Given the description of an element on the screen output the (x, y) to click on. 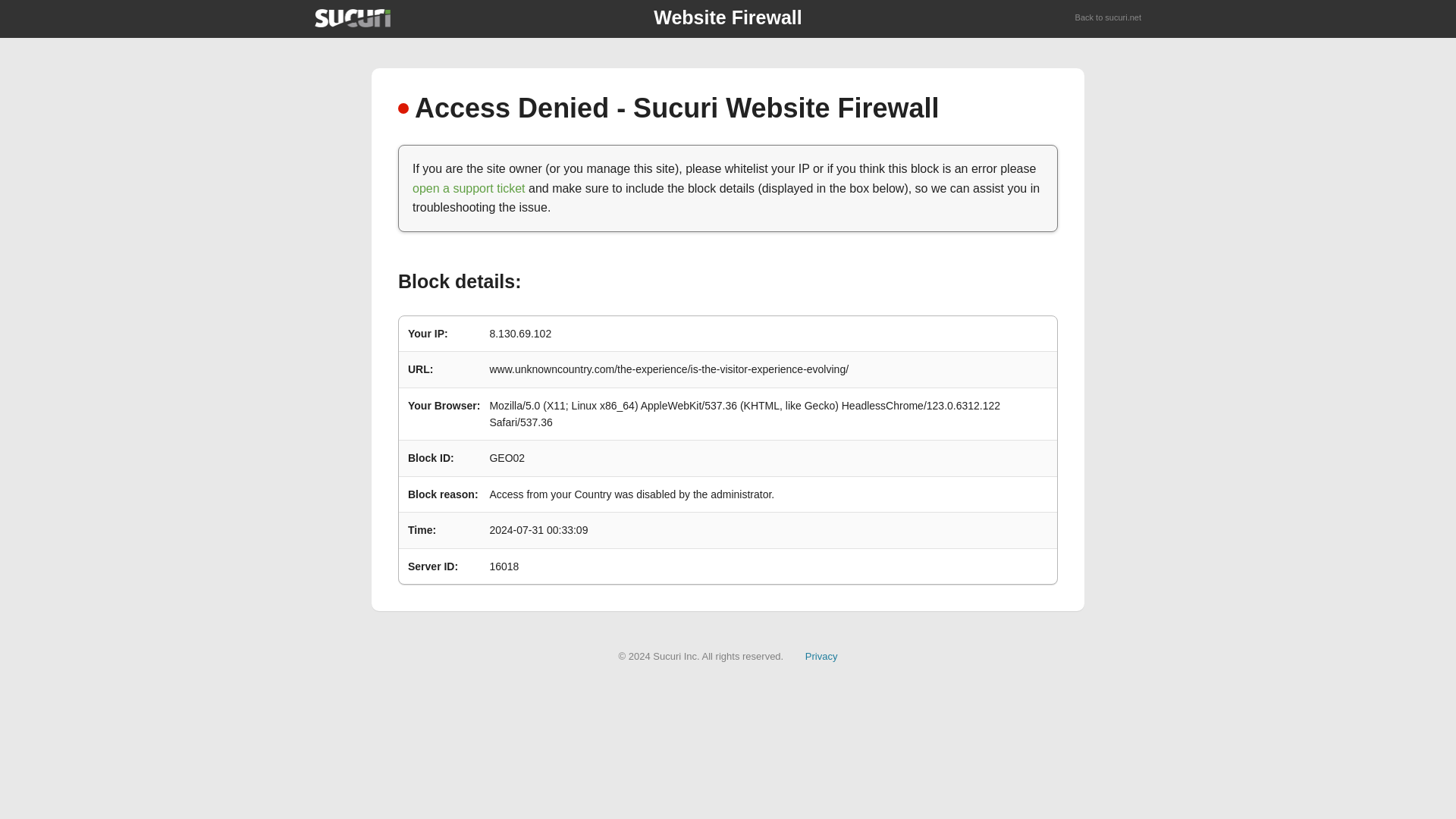
Back to sucuri.net (1108, 18)
Privacy (821, 655)
open a support ticket (468, 187)
